Given the description of an element on the screen output the (x, y) to click on. 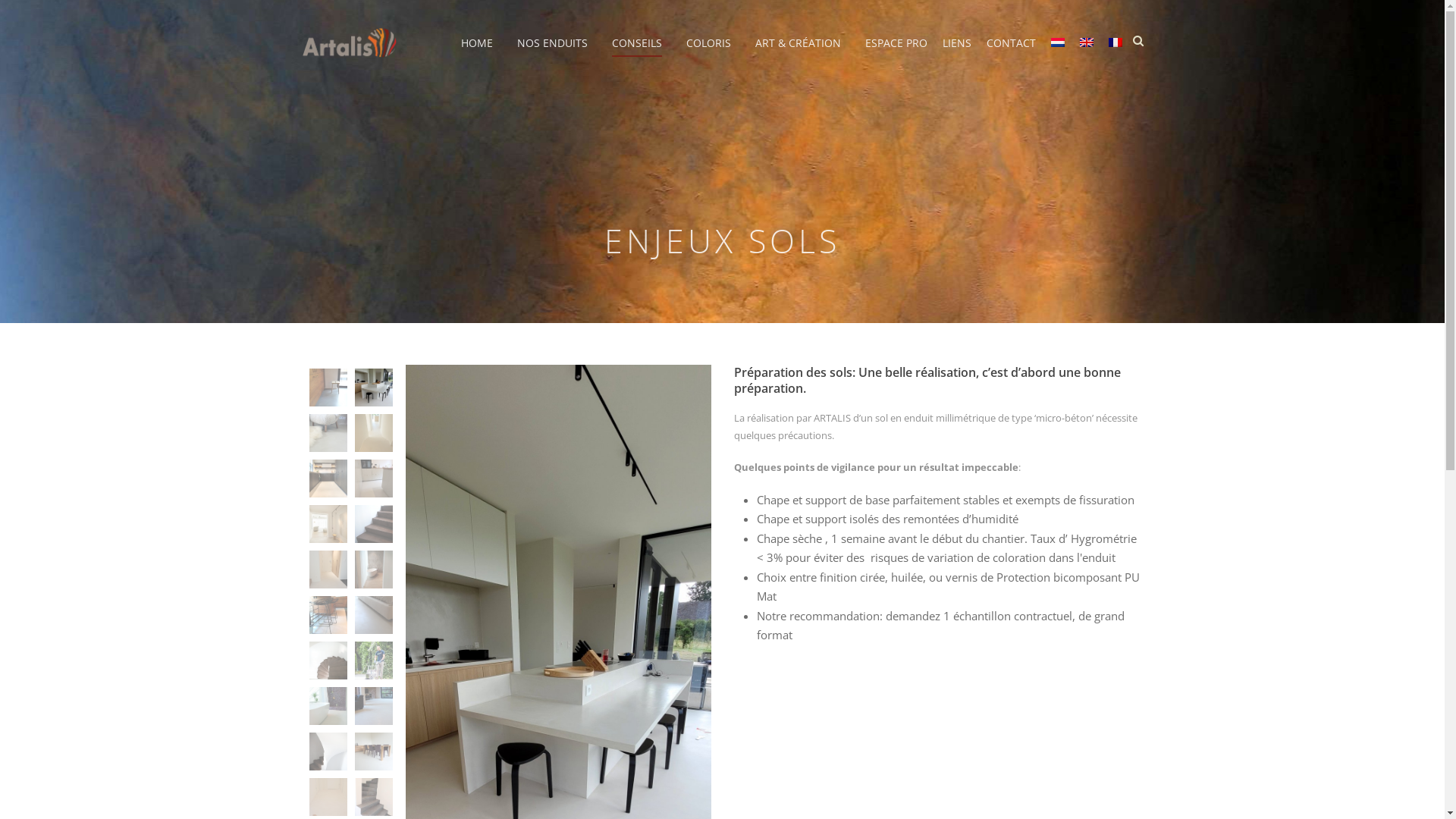
NOS ENDUITS Element type: text (556, 52)
Nederlands Element type: hover (1057, 42)
COLORIS Element type: text (711, 52)
CONSEILS Element type: text (640, 52)
HOME Element type: text (485, 52)
CONTACT Element type: text (1010, 52)
LIENS Element type: text (956, 52)
English Element type: hover (1086, 42)
ESPACE PRO Element type: text (895, 52)
